Given the description of an element on the screen output the (x, y) to click on. 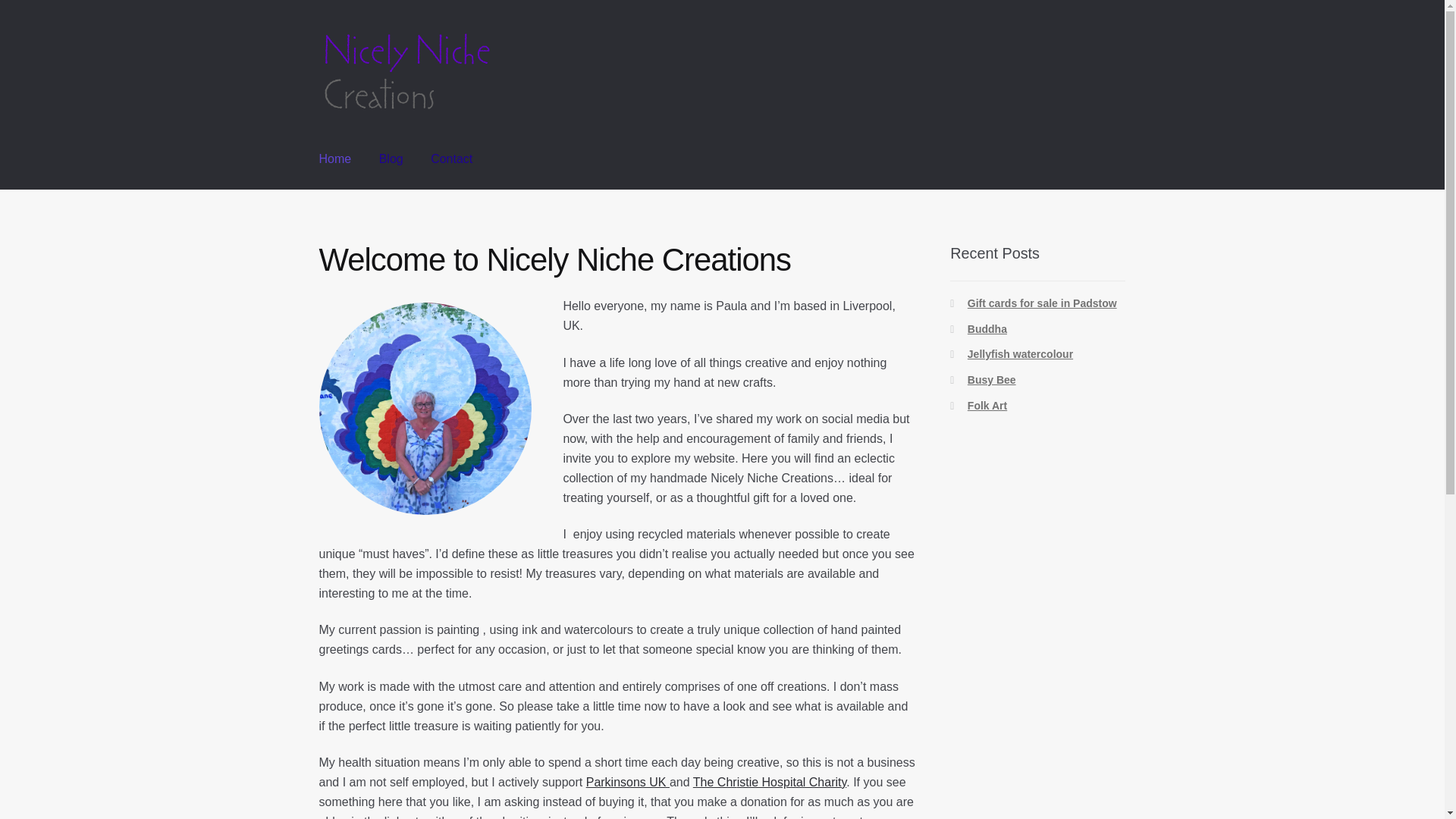
Folk Art (987, 405)
Busy Bee (992, 379)
Parkinsons UK (627, 781)
Buddha (987, 328)
The Chr (714, 781)
Jellyfish watercolour (1020, 354)
Gift cards for sale in Padstow (1042, 303)
Contact (451, 159)
Home (335, 159)
